Given the description of an element on the screen output the (x, y) to click on. 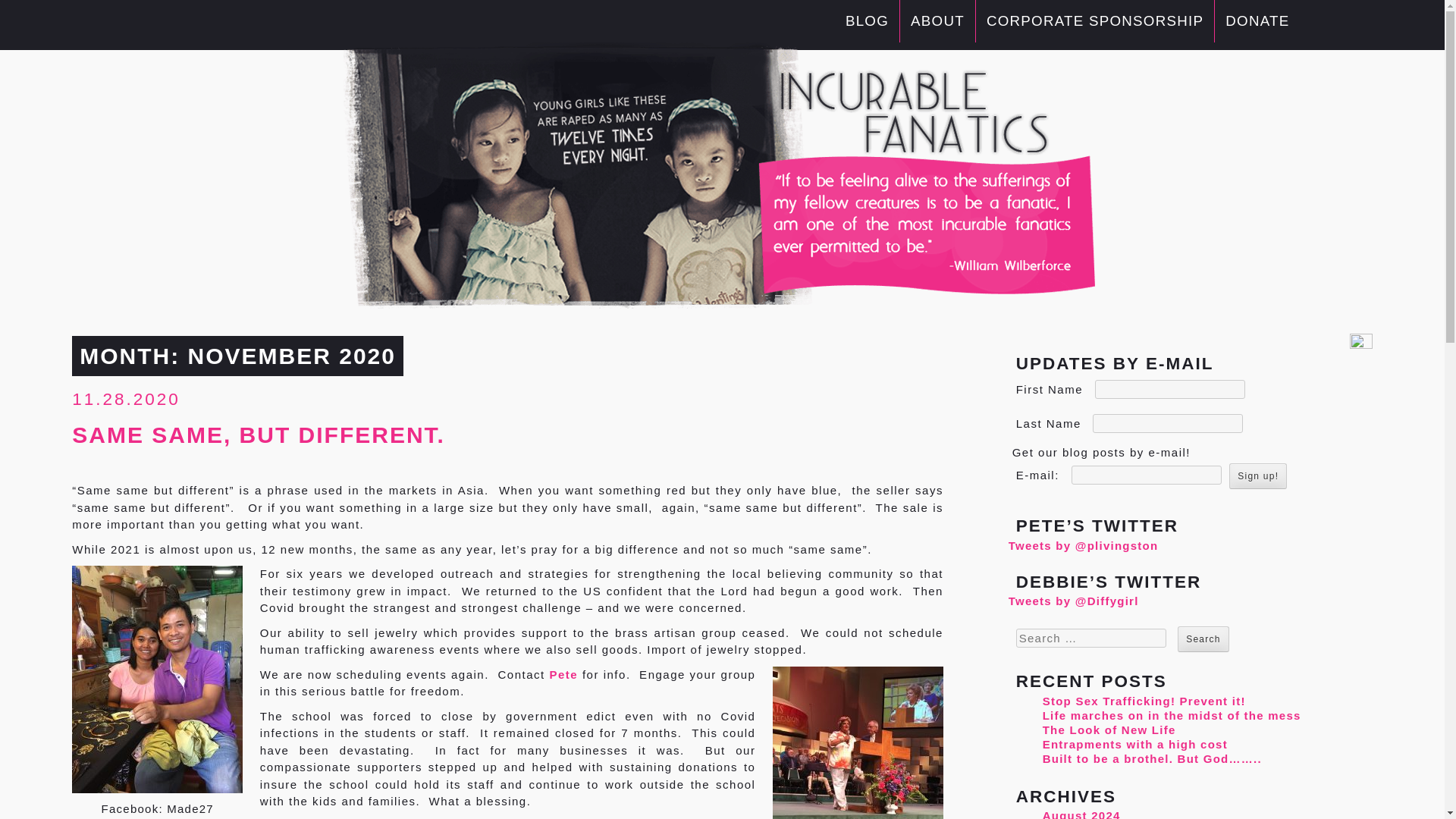
Search (1202, 638)
CORPORATE SPONSORSHIP (1094, 20)
BLOG (867, 20)
DONATE (1257, 20)
The Look of New Life (1109, 729)
Stop Sex Trafficking! Prevent it! (1144, 700)
Pete (563, 674)
Search (1202, 638)
Sign up! (1257, 475)
Sign up! (1257, 475)
